Given the description of an element on the screen output the (x, y) to click on. 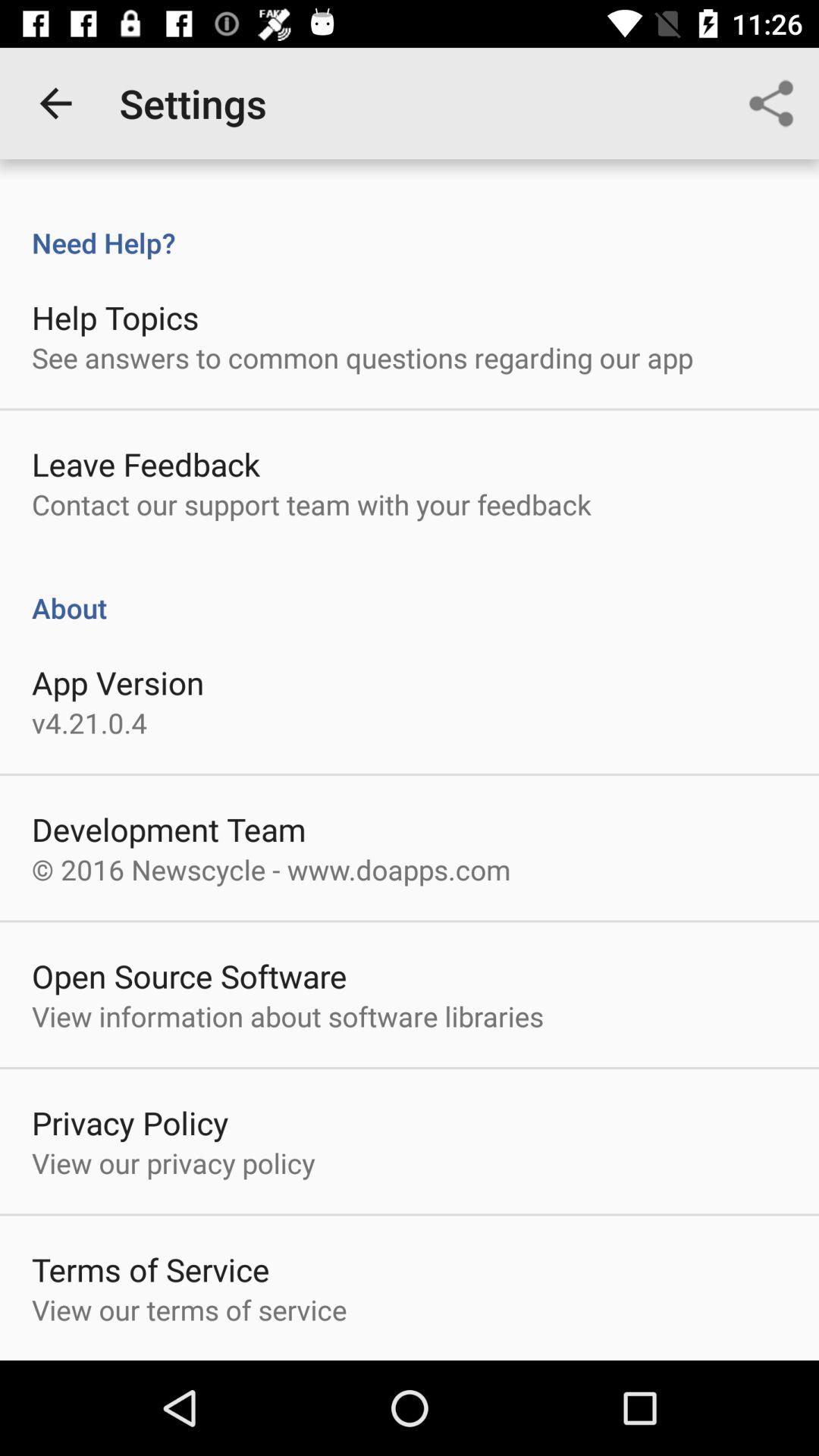
select item above need help? item (55, 103)
